Given the description of an element on the screen output the (x, y) to click on. 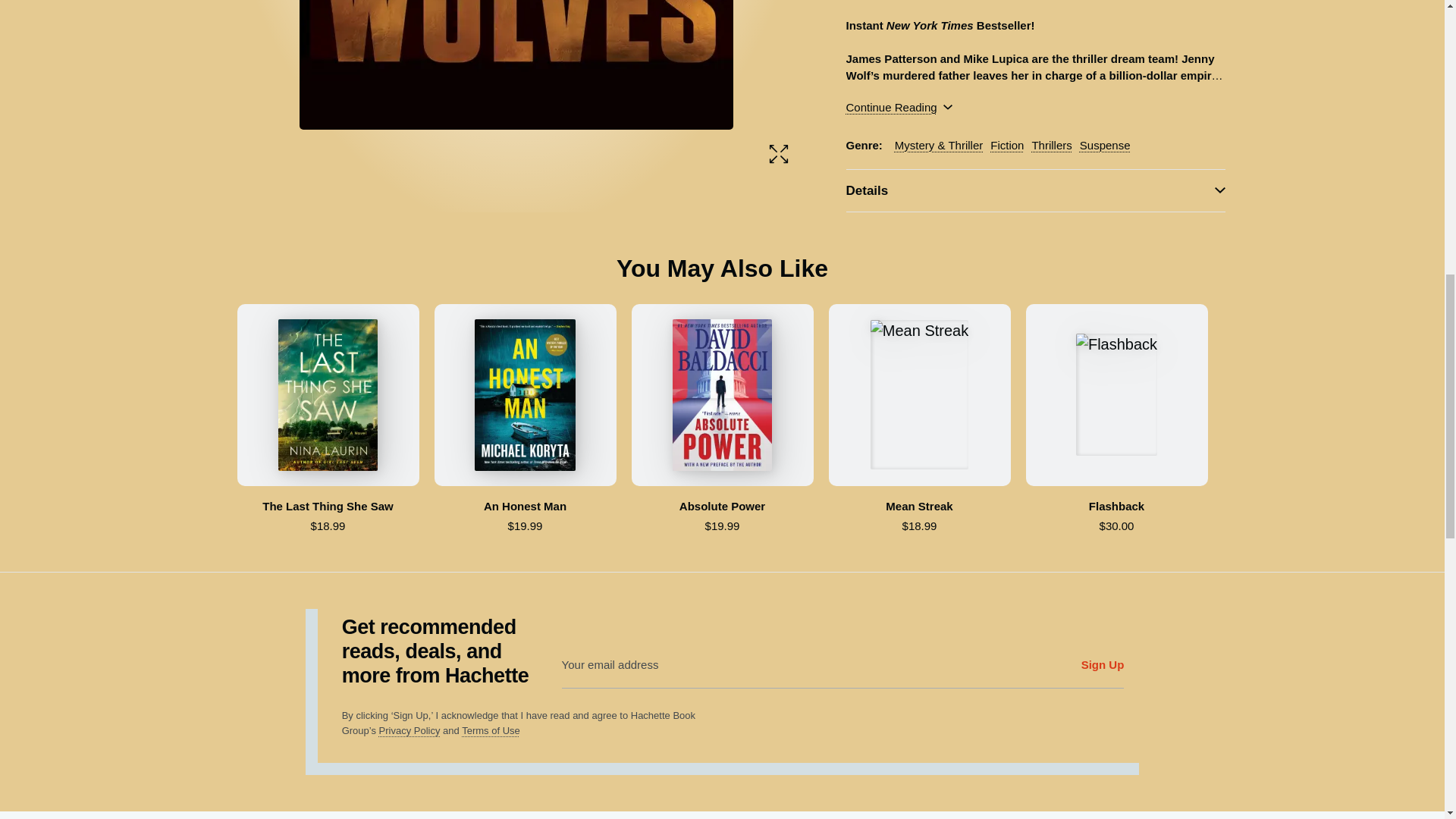
Description (1035, 4)
Open the full-size image (778, 128)
Continue Reading (898, 107)
